Given the description of an element on the screen output the (x, y) to click on. 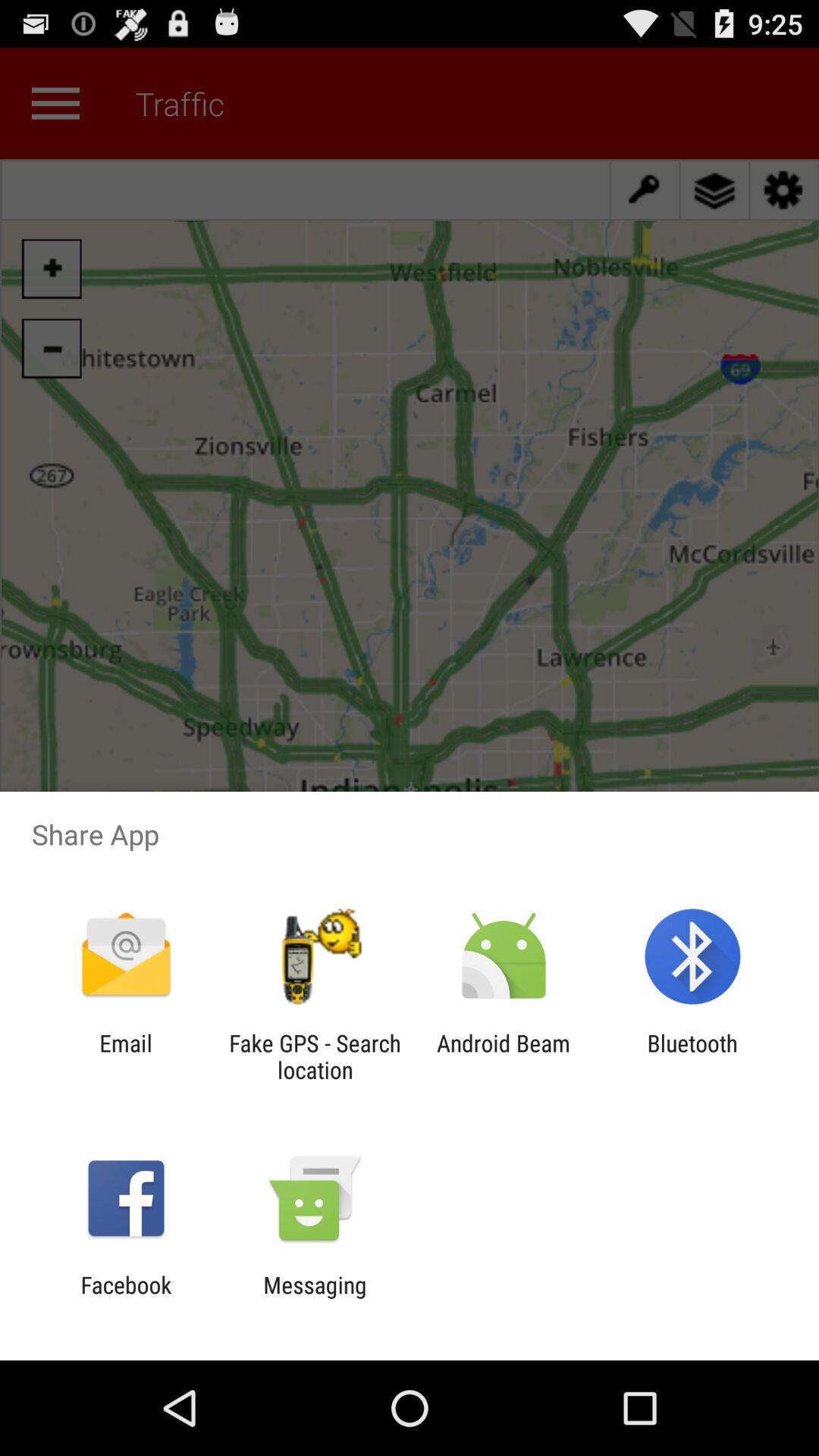
turn off fake gps search item (314, 1056)
